Given the description of an element on the screen output the (x, y) to click on. 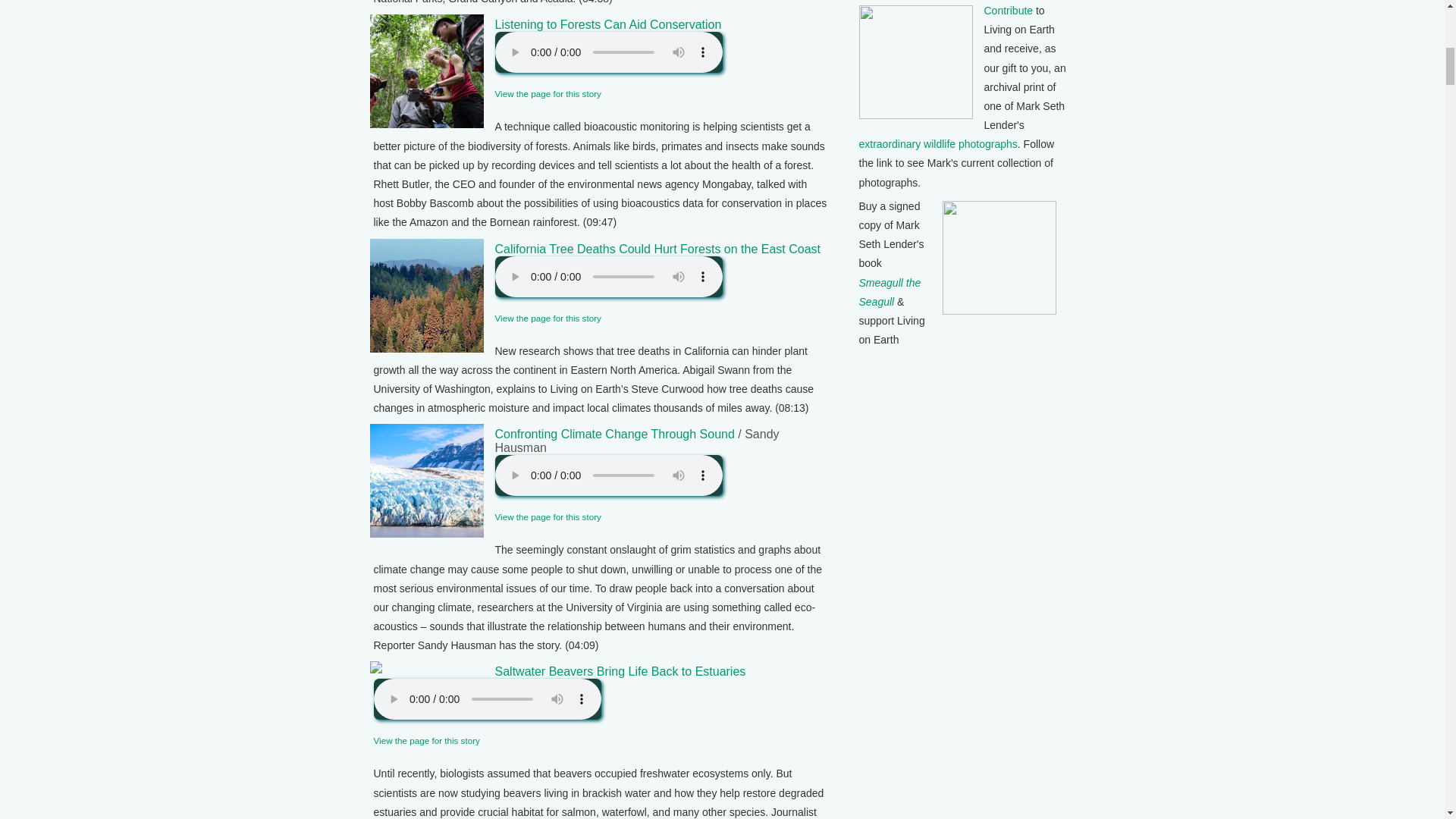
Listening to Forests Can Aid Conservation (607, 24)
View the page for this story (547, 516)
Confronting Climate Change Through Sound (614, 433)
View the page for this story (547, 317)
View the page for this story (547, 93)
California Tree Deaths Could Hurt Forests on the East Coast (658, 248)
View the page for this story (425, 740)
Saltwater Beavers Bring Life Back to Estuaries (620, 671)
